Given the description of an element on the screen output the (x, y) to click on. 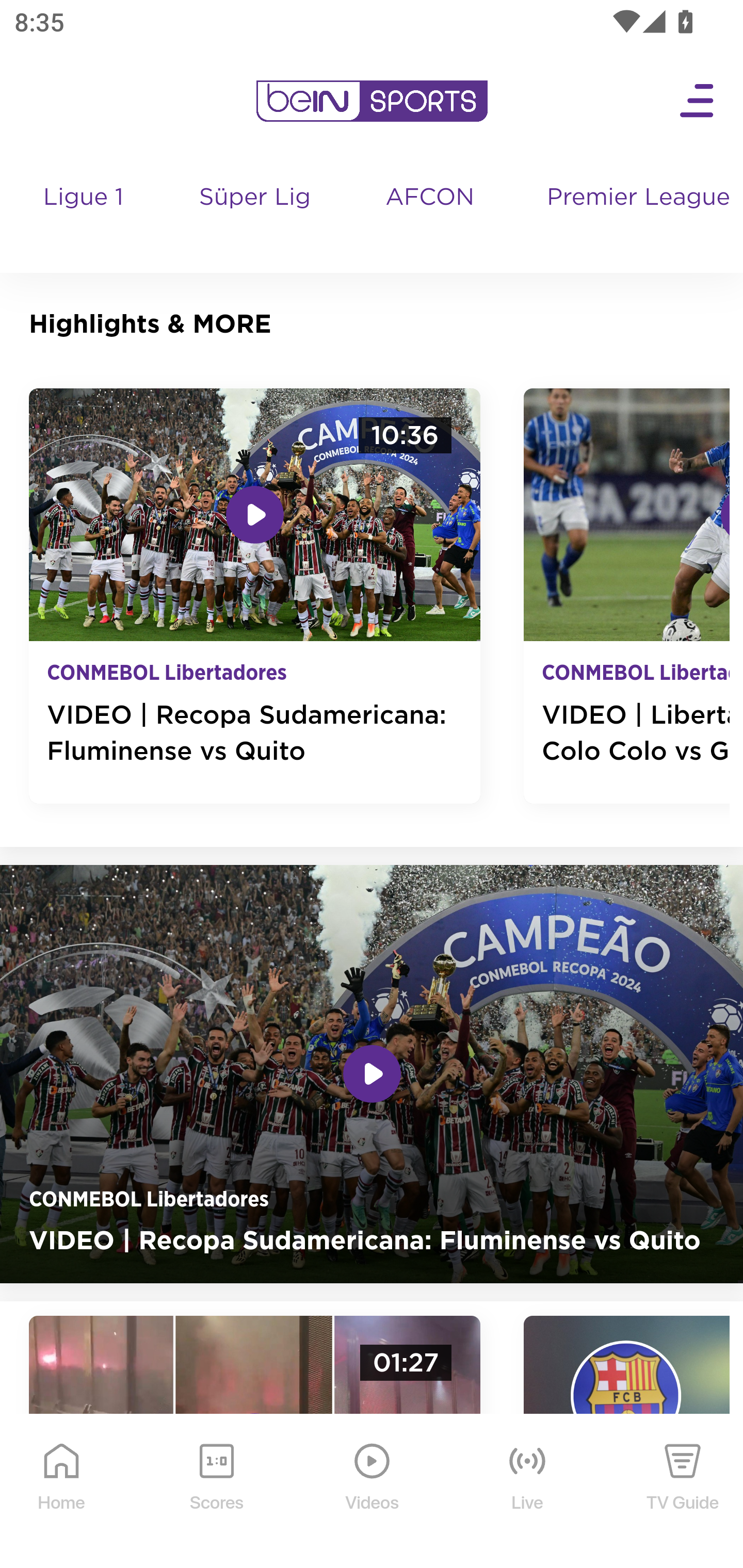
en-us?platform=mobile_android bein logo (371, 101)
Open Menu Icon (697, 101)
Ligue 1 (84, 216)
Süper Lig (256, 216)
AFCON (429, 198)
Premier League (637, 198)
Home Home Icon Home (61, 1491)
Scores Scores Icon Scores (216, 1491)
Videos Videos Icon Videos (372, 1491)
TV Guide TV Guide Icon TV Guide (682, 1491)
